Given the description of an element on the screen output the (x, y) to click on. 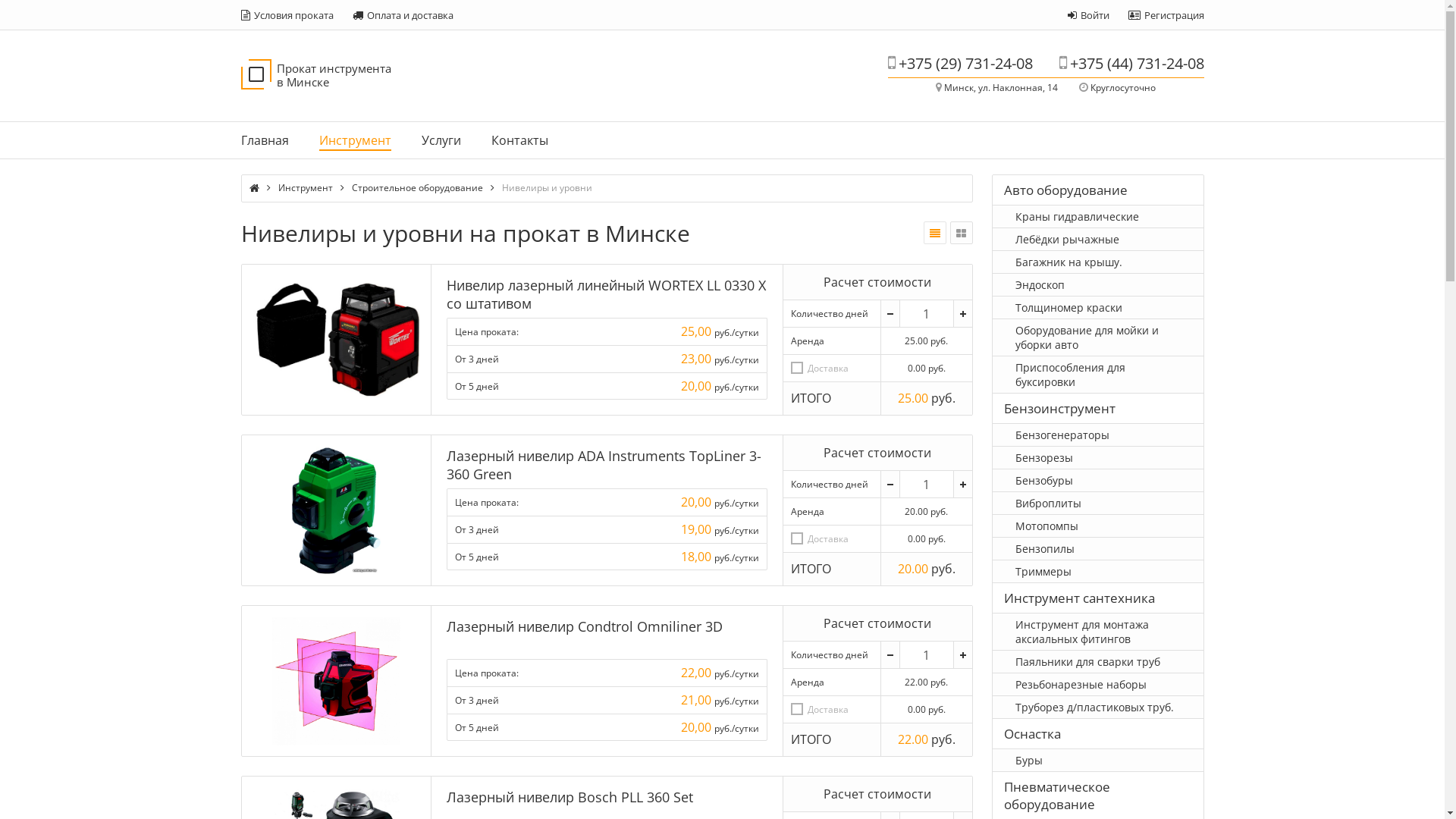
+375 (29) 731-24-08 Element type: text (959, 63)
+375 (44) 731-24-08 Element type: text (1130, 63)
